Given the description of an element on the screen output the (x, y) to click on. 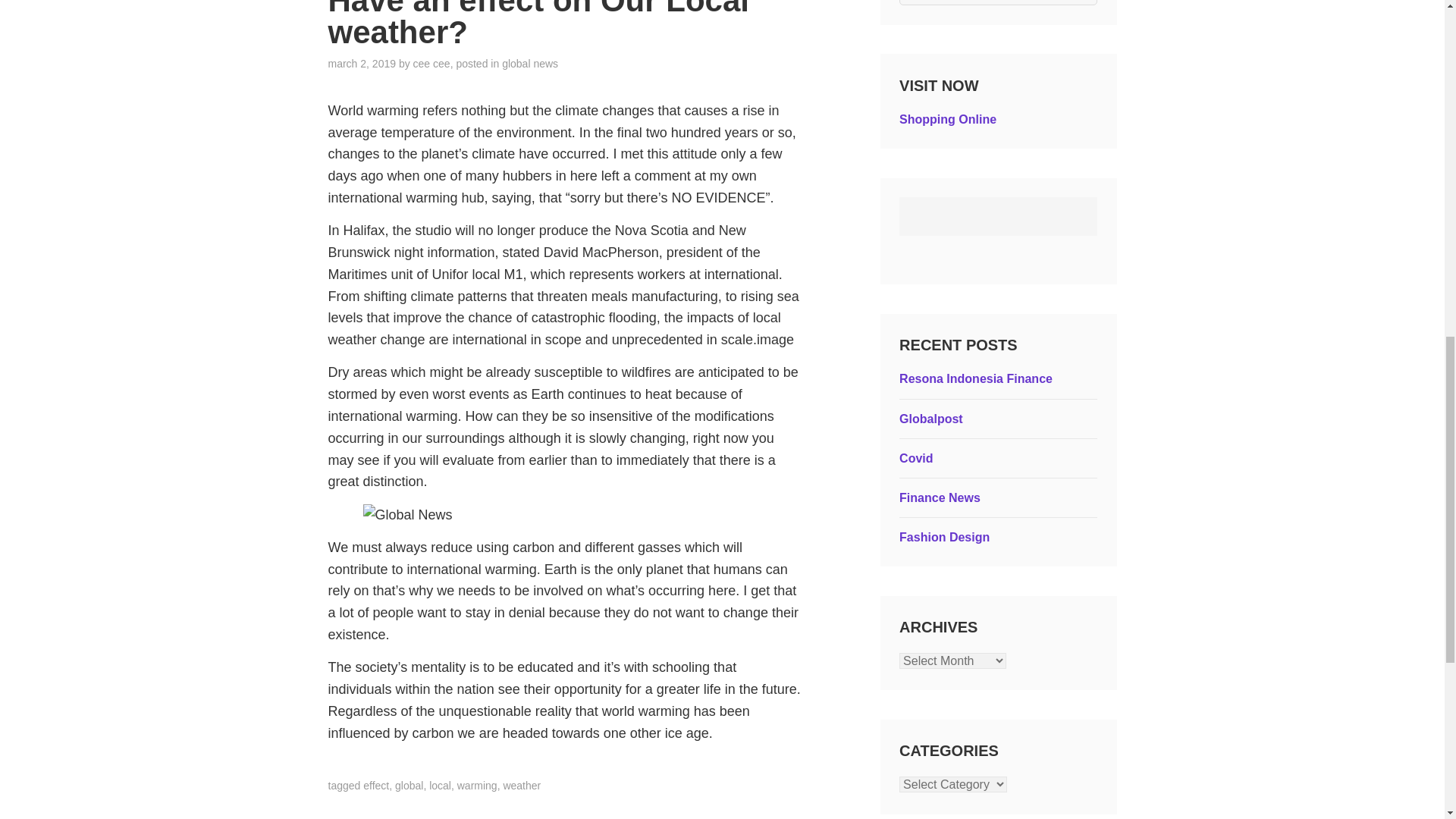
Covid (916, 458)
global news (529, 63)
weather (521, 785)
Finance News (939, 497)
Shopping Online (947, 119)
Fashion Design (944, 536)
warming (477, 785)
local (440, 785)
Resona Indonesia Finance (975, 378)
effect (375, 785)
